Given the description of an element on the screen output the (x, y) to click on. 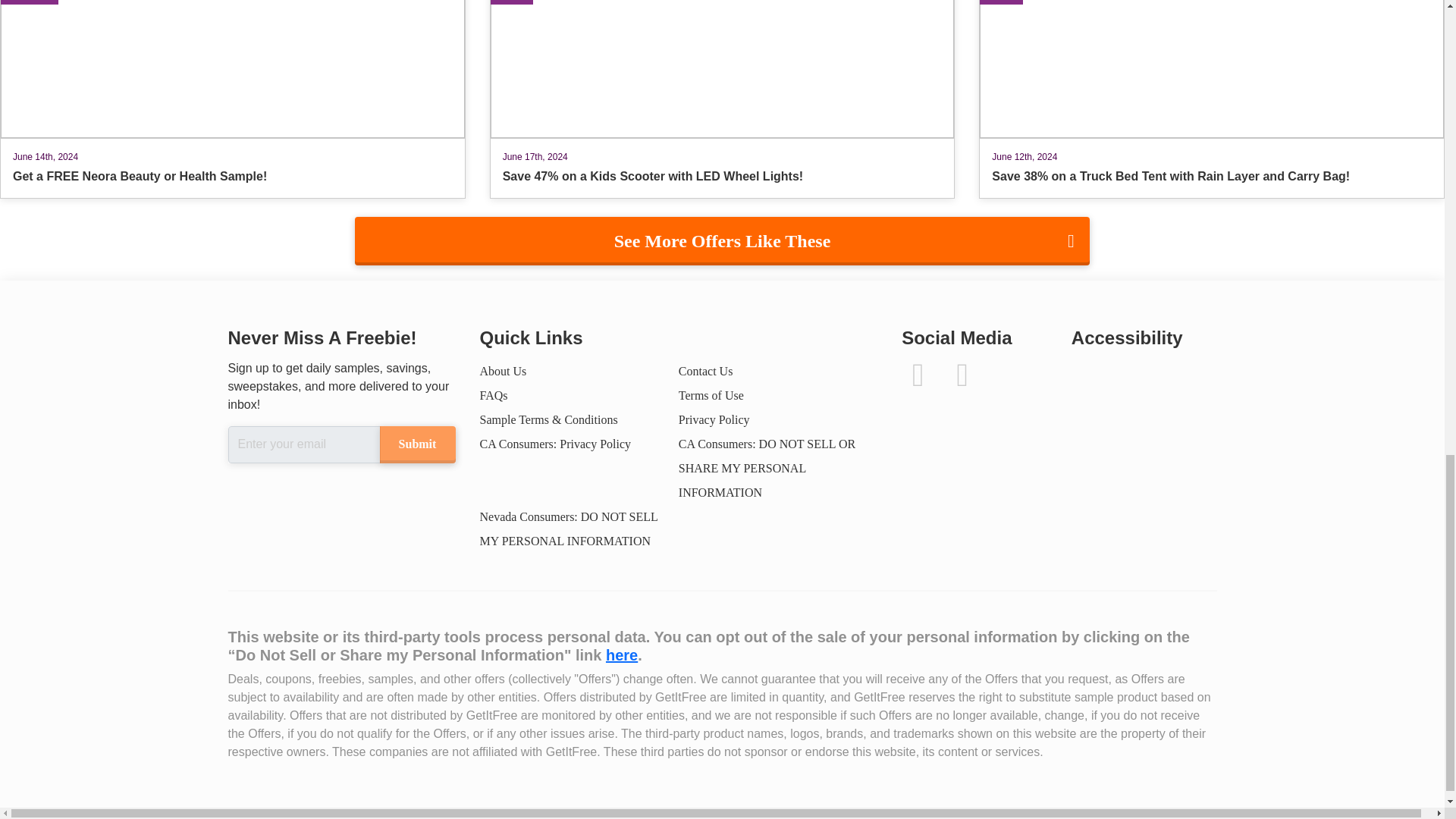
Terms of Use (711, 395)
CA Consumers: Privacy Policy (554, 443)
FAQs (492, 395)
Nevada Consumers: DO NOT SELL MY PERSONAL INFORMATION (568, 528)
CA Consumers: DO NOT SELL OR SHARE MY PERSONAL INFORMATION (767, 467)
Submit (416, 444)
About Us (502, 370)
See More Offers Like These (722, 241)
Contact Us (705, 370)
Privacy Policy (713, 419)
here (621, 655)
